Given the description of an element on the screen output the (x, y) to click on. 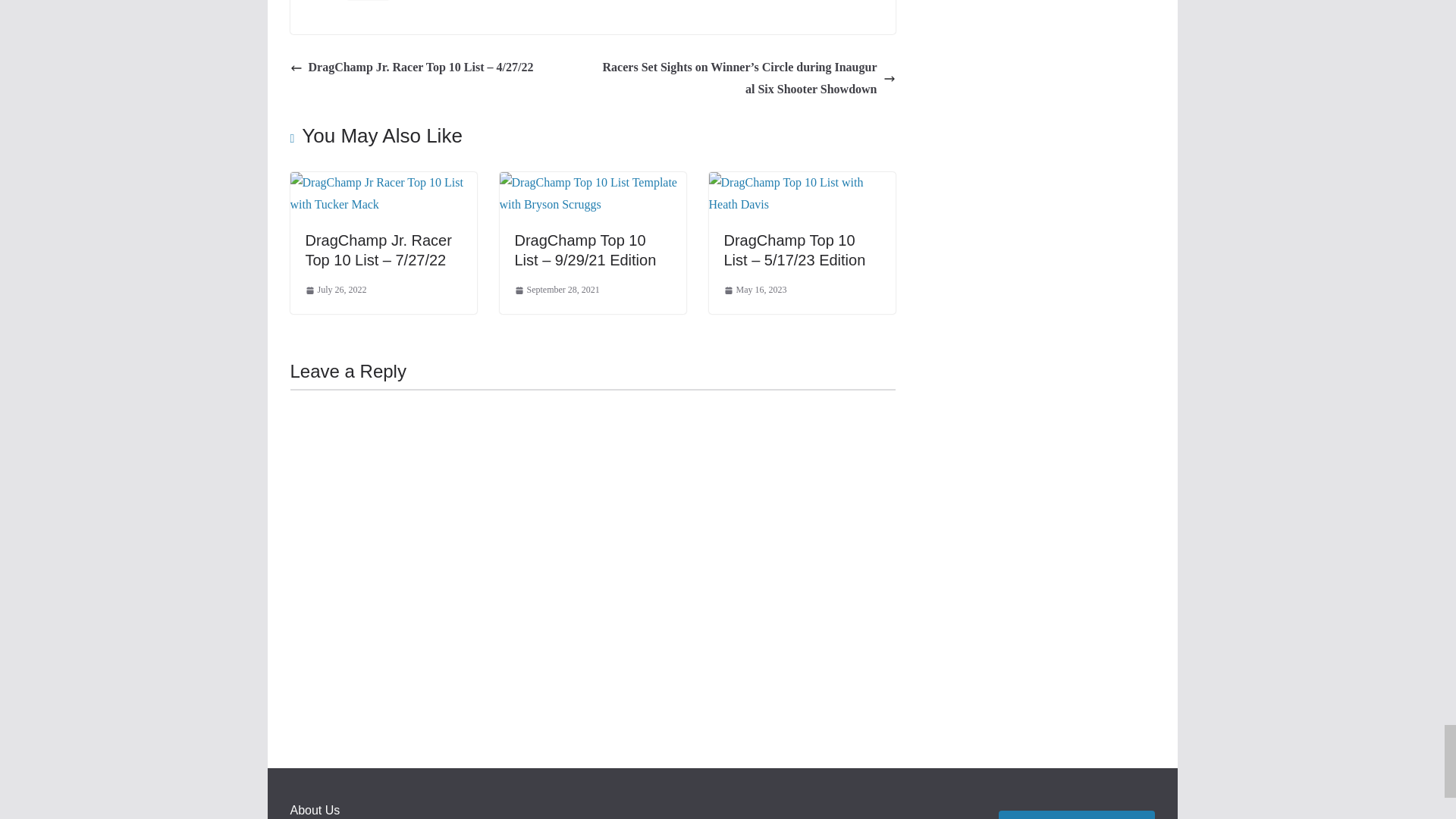
10:37 pm (754, 289)
10:21 pm (555, 289)
10:25 pm (335, 289)
July 26, 2022 (335, 289)
